Given the description of an element on the screen output the (x, y) to click on. 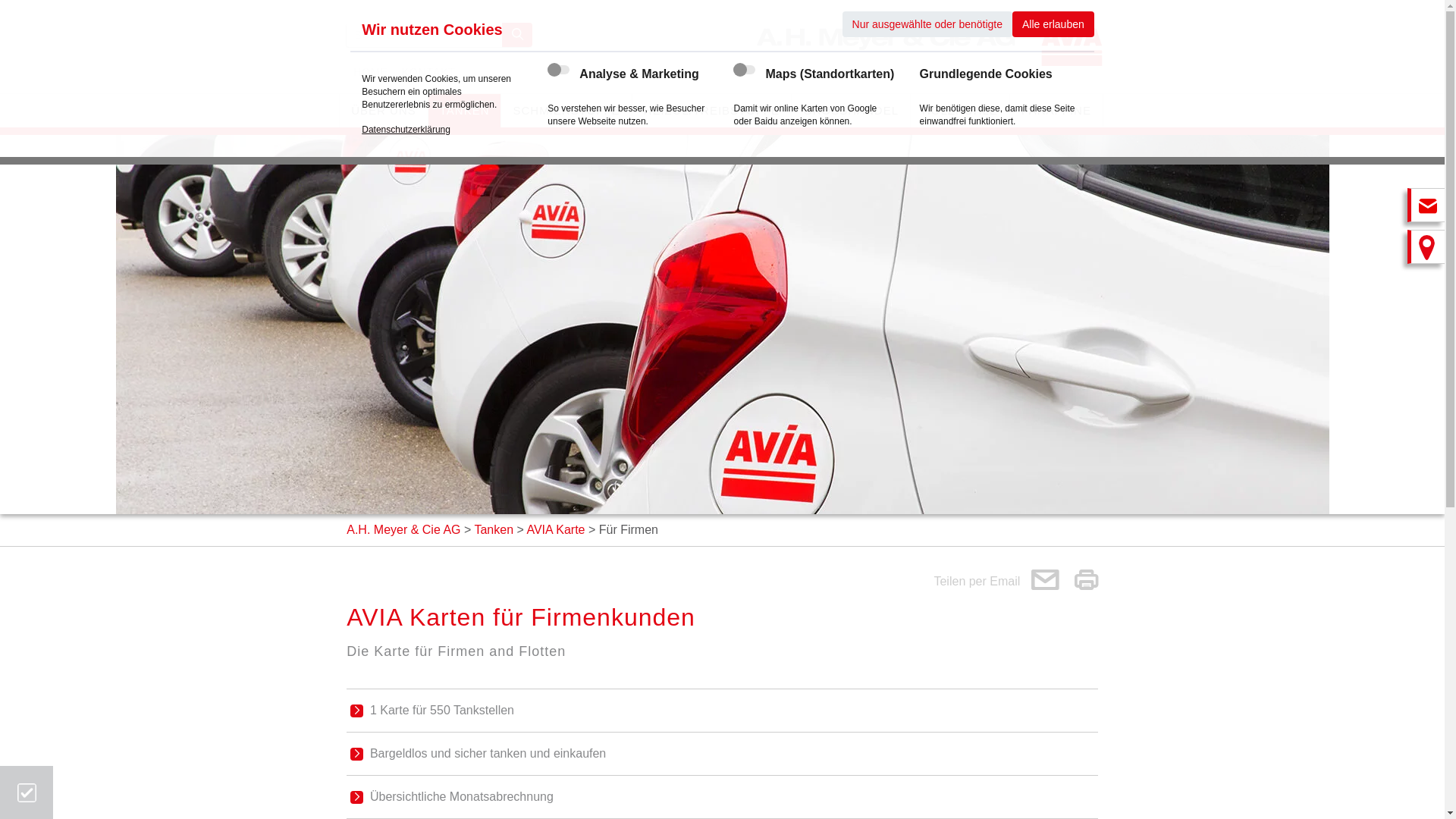
Cookies Element type: text (25, 791)
TANKEN Element type: text (464, 110)
Tanken Element type: text (493, 529)
AVIA Karte Element type: text (555, 529)
A.H. Meyer & Cie AG Element type: text (403, 529)
HOLZKOHLE Element type: text (959, 110)
Search Element type: text (517, 34)
Bargeldlos und sicher tanken und einkaufen Element type: text (723, 753)
HOME Element type: text (370, 72)
KONTAKT Element type: text (428, 72)
GROSSHANDEL Element type: text (850, 110)
SCHMIERSTOFFE Element type: text (565, 110)
PARAFFINE Element type: text (1056, 110)
Alle erlauben Element type: text (1053, 24)
Teilen per Email  Element type: text (995, 581)
